Given the description of an element on the screen output the (x, y) to click on. 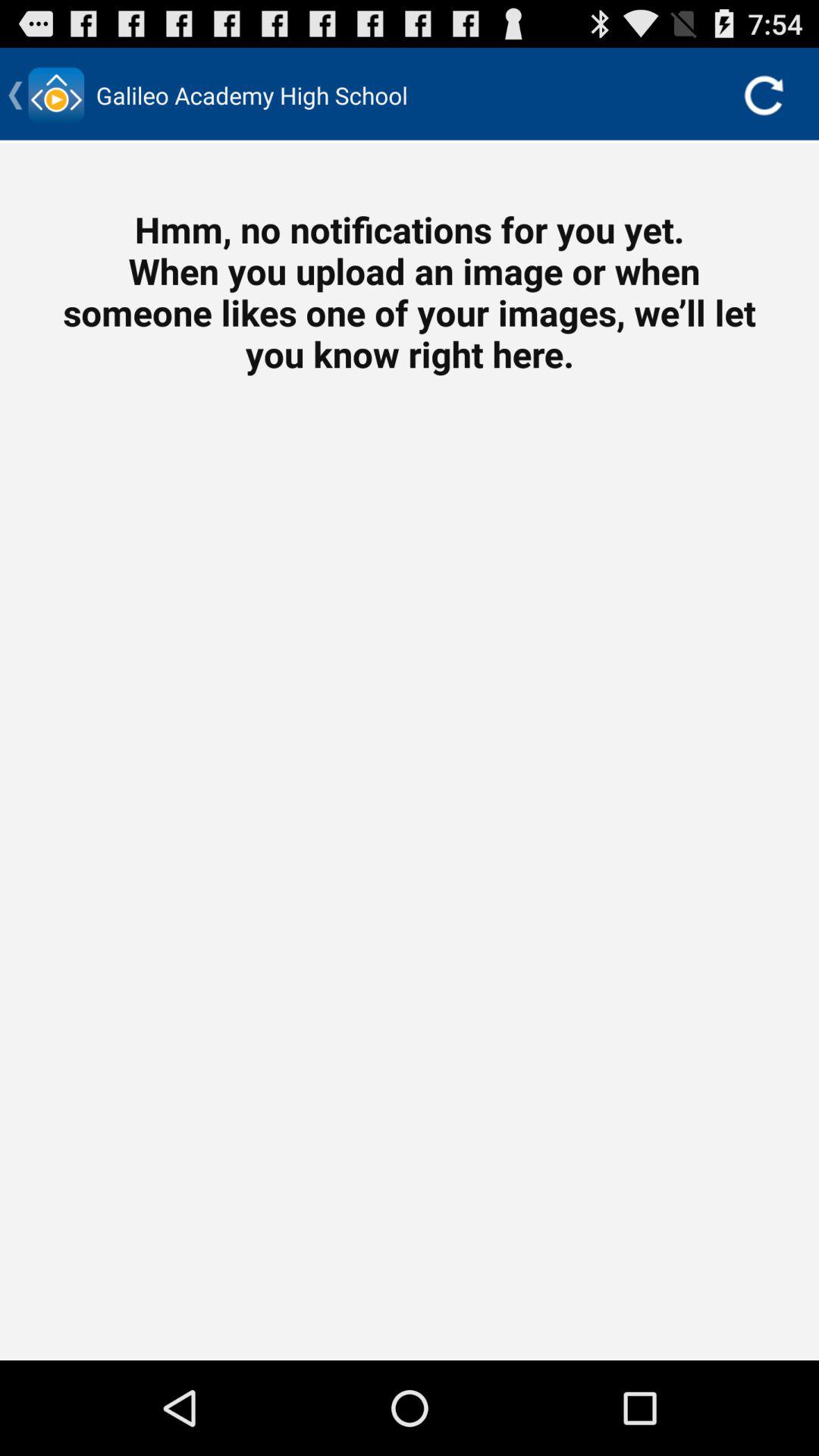
click item next to galileo academy high item (763, 95)
